Given the description of an element on the screen output the (x, y) to click on. 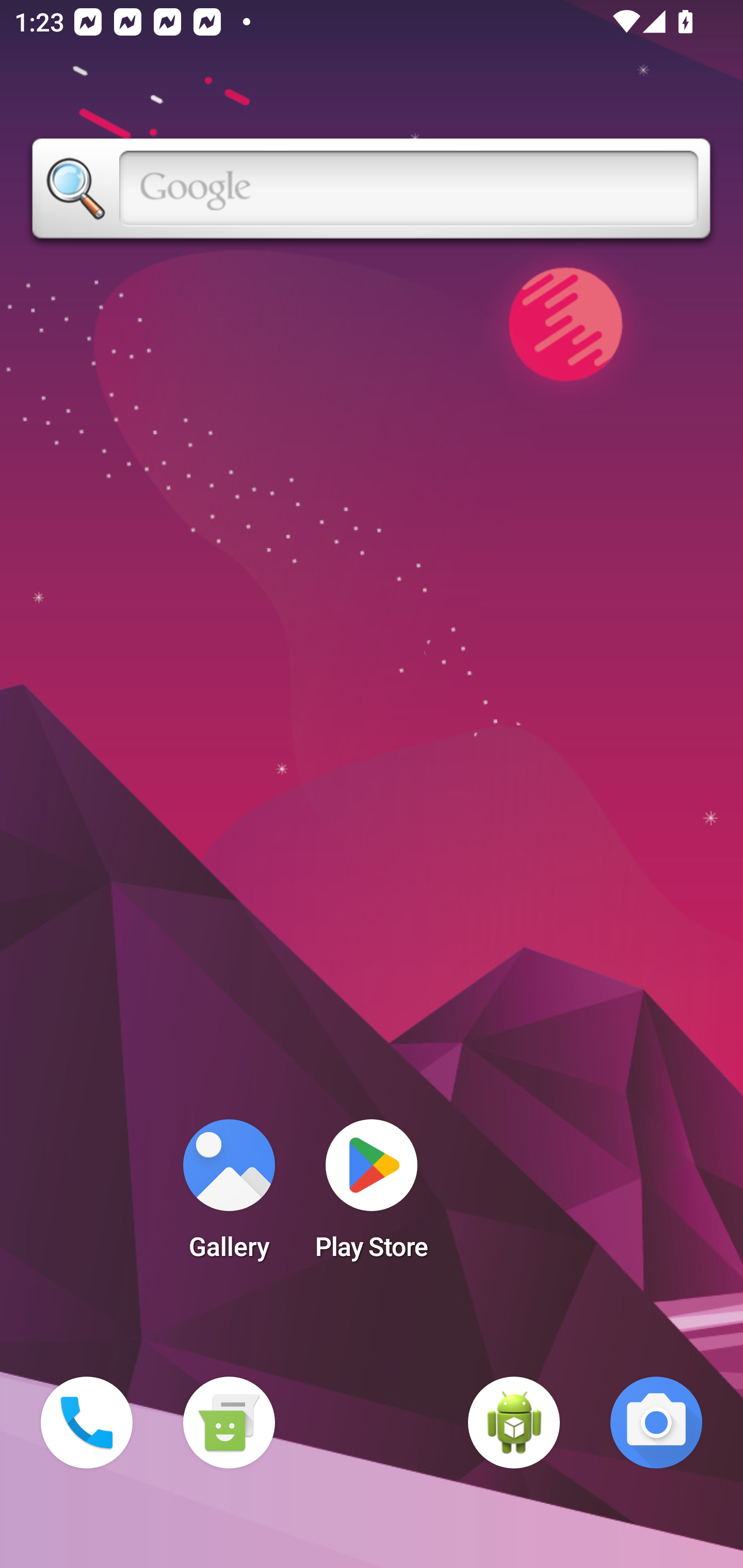
Gallery (228, 1195)
Play Store (371, 1195)
Phone (86, 1422)
Messaging (228, 1422)
WebView Browser Tester (513, 1422)
Camera (656, 1422)
